Given the description of an element on the screen output the (x, y) to click on. 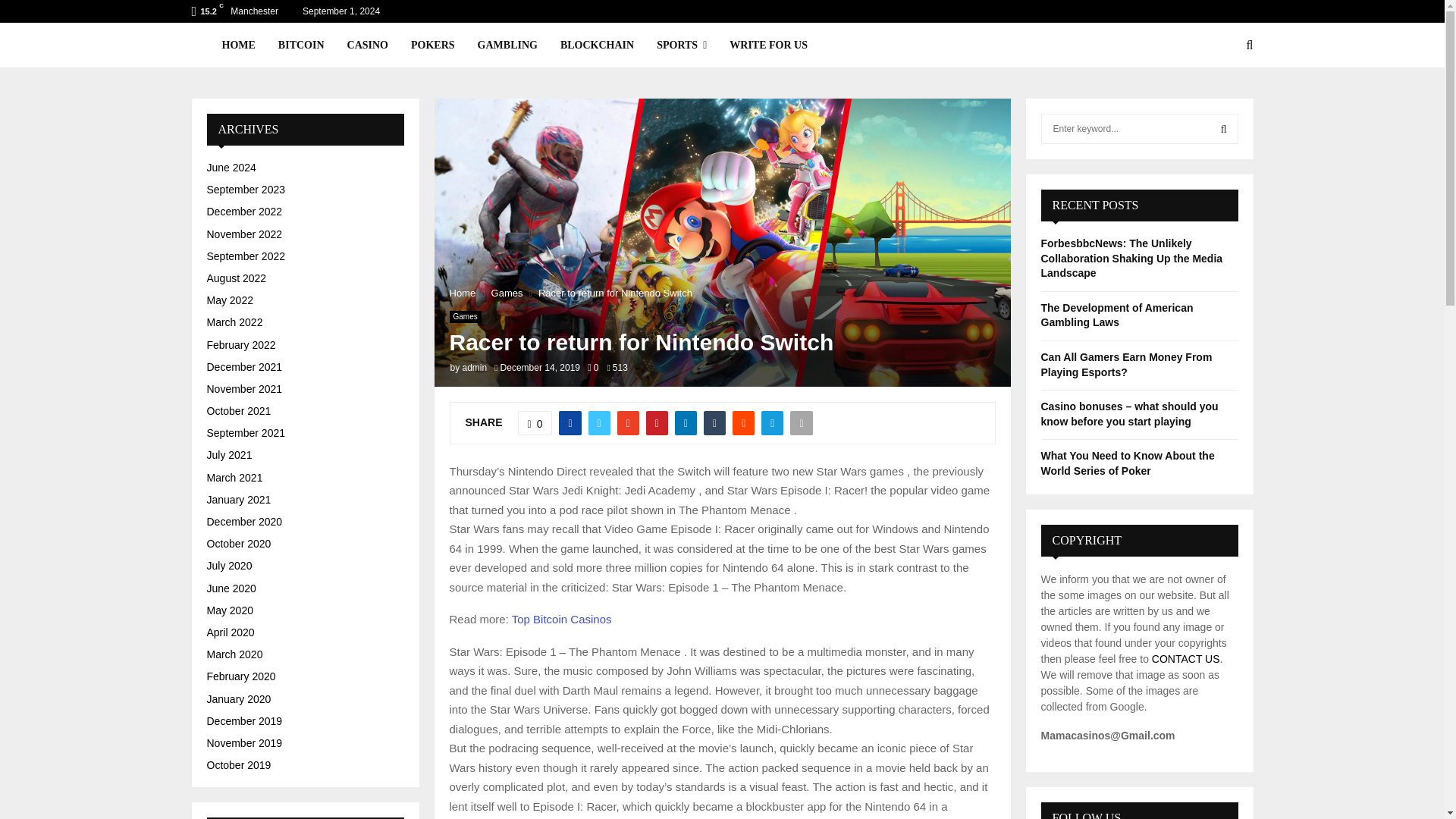
admin (475, 367)
Home (462, 292)
Games (507, 292)
BITCOIN (301, 44)
SPORTS (681, 44)
BLOCKCHAIN (596, 44)
0 (535, 422)
Top Bitcoin Casinos (561, 618)
Racer to return for Nintendo Switch (615, 292)
GAMBLING (507, 44)
